Given the description of an element on the screen output the (x, y) to click on. 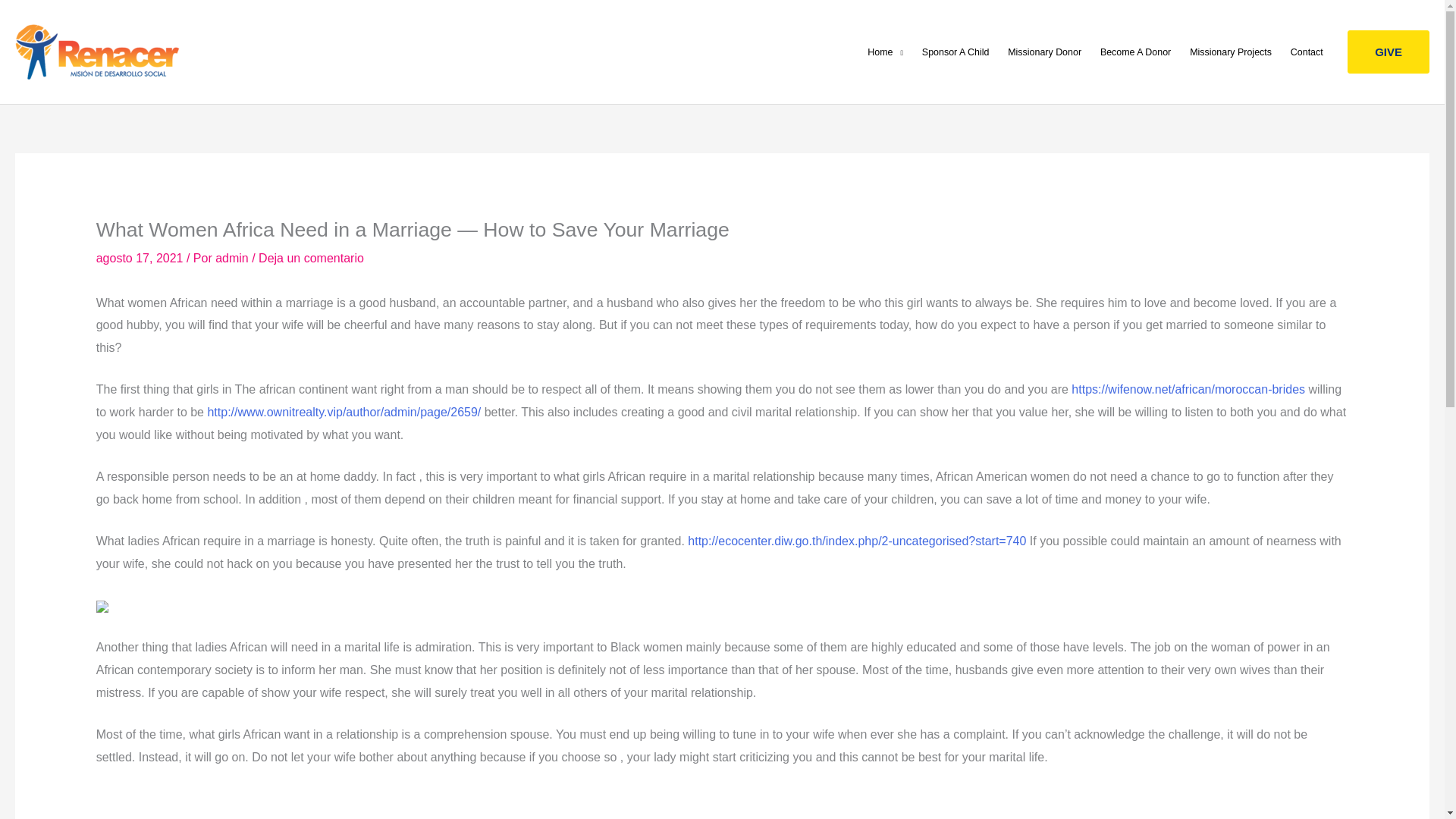
Missionary Projects (1230, 51)
Ver todas las entradas de admin (233, 257)
GIVE (1388, 52)
Sponsor A Child (954, 51)
Become A Donor (1134, 51)
Deja un comentario (311, 257)
Home (885, 51)
Missionary Donor (1044, 51)
admin (233, 257)
Contact (1306, 51)
